Given the description of an element on the screen output the (x, y) to click on. 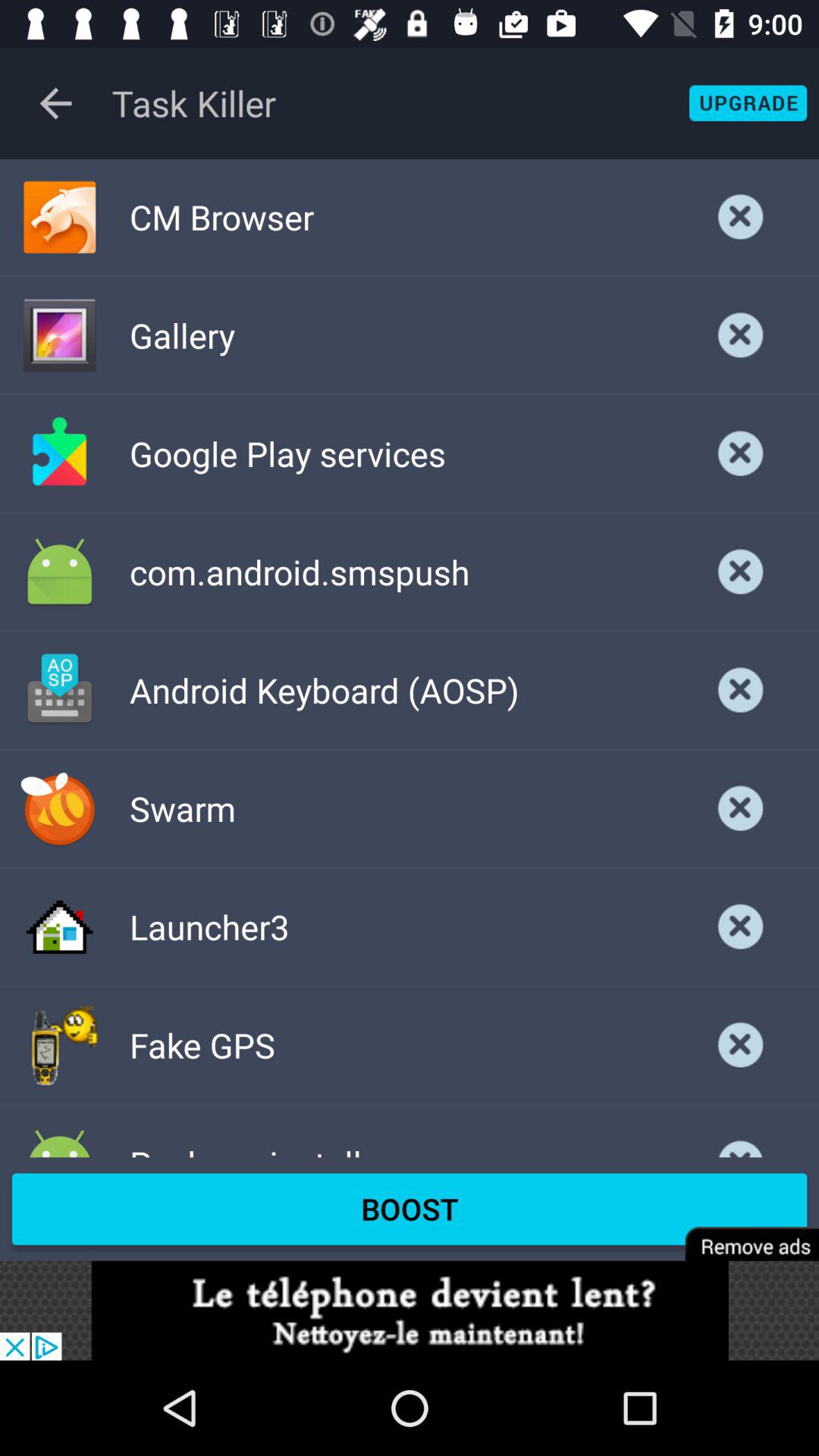
exit google play services (740, 453)
